Given the description of an element on the screen output the (x, y) to click on. 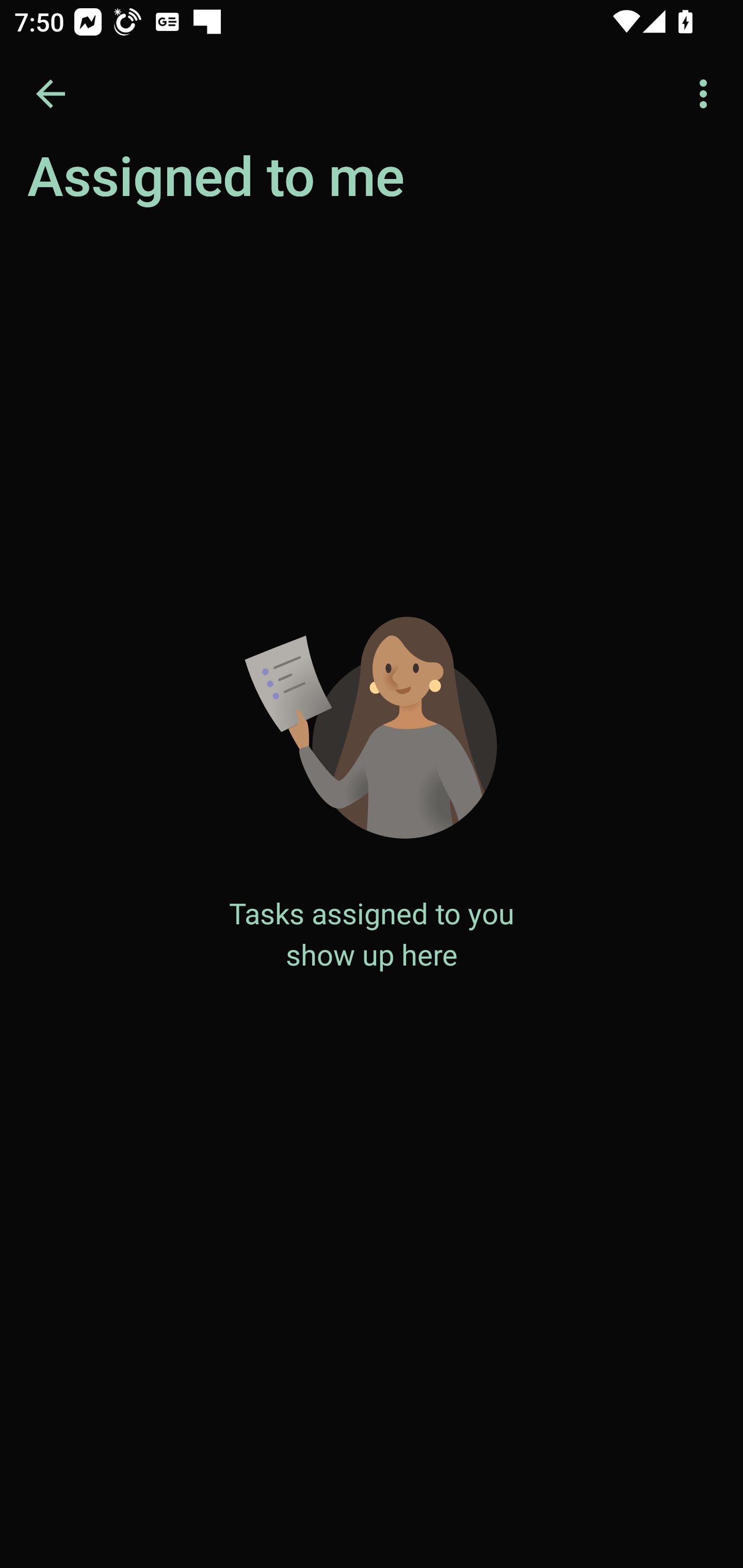
Back (50, 93)
More options (706, 93)
